Given the description of an element on the screen output the (x, y) to click on. 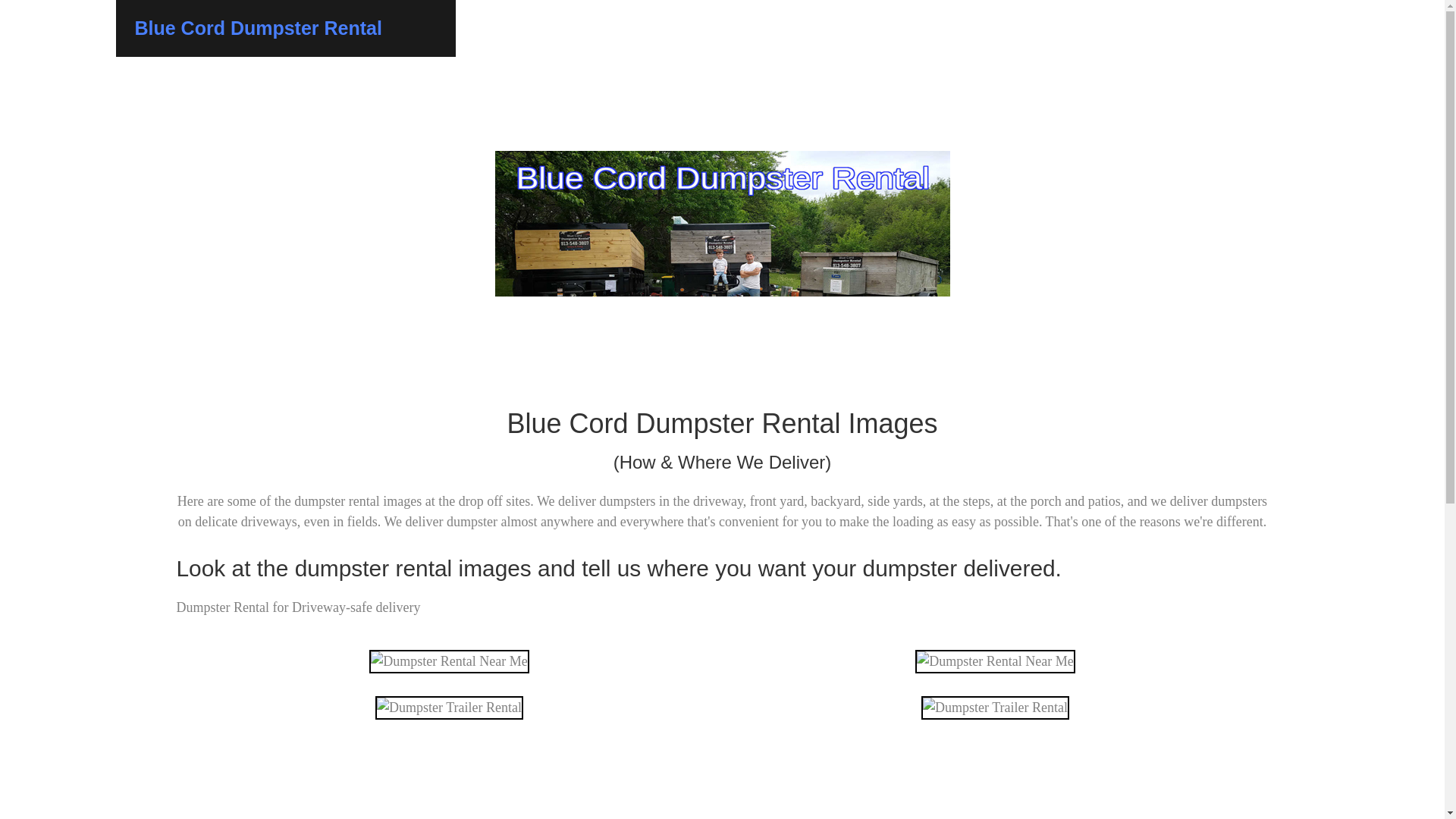
Dumpster Trailer Rental (448, 707)
Dumpster Rental Near Me (994, 661)
Blue Cord Dumpster Rental (258, 27)
Blue Cord Dumpster Rental (722, 780)
Dumpster Rental Near Me (448, 661)
Dumpster Trailer Rental (994, 707)
